Given the description of an element on the screen output the (x, y) to click on. 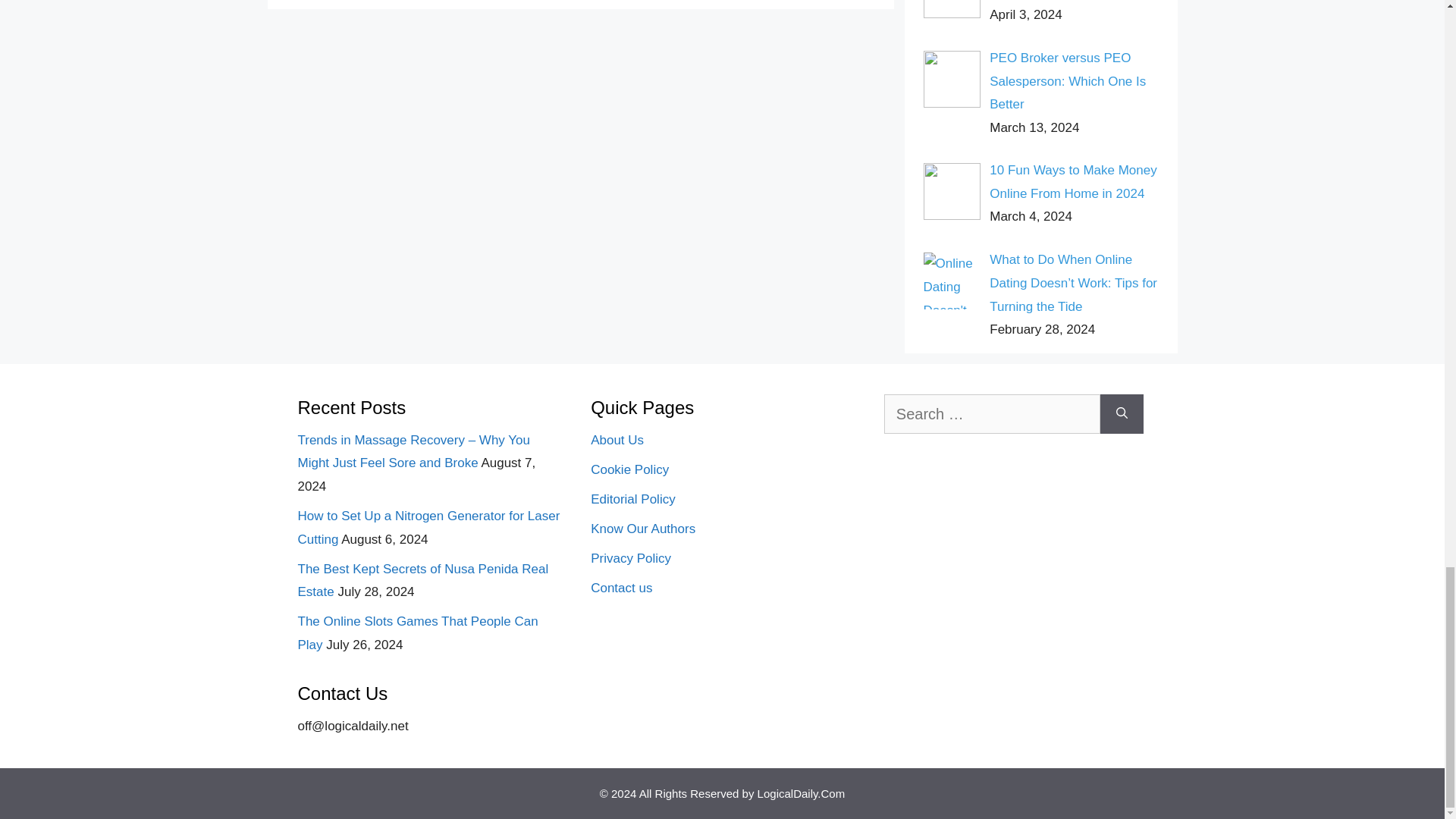
Search for: (991, 413)
10 Fun Ways to Make Money Online From Home in 2024 (1073, 181)
PEO Broker versus PEO Salesperson: Which One Is Better (1067, 80)
